Given the description of an element on the screen output the (x, y) to click on. 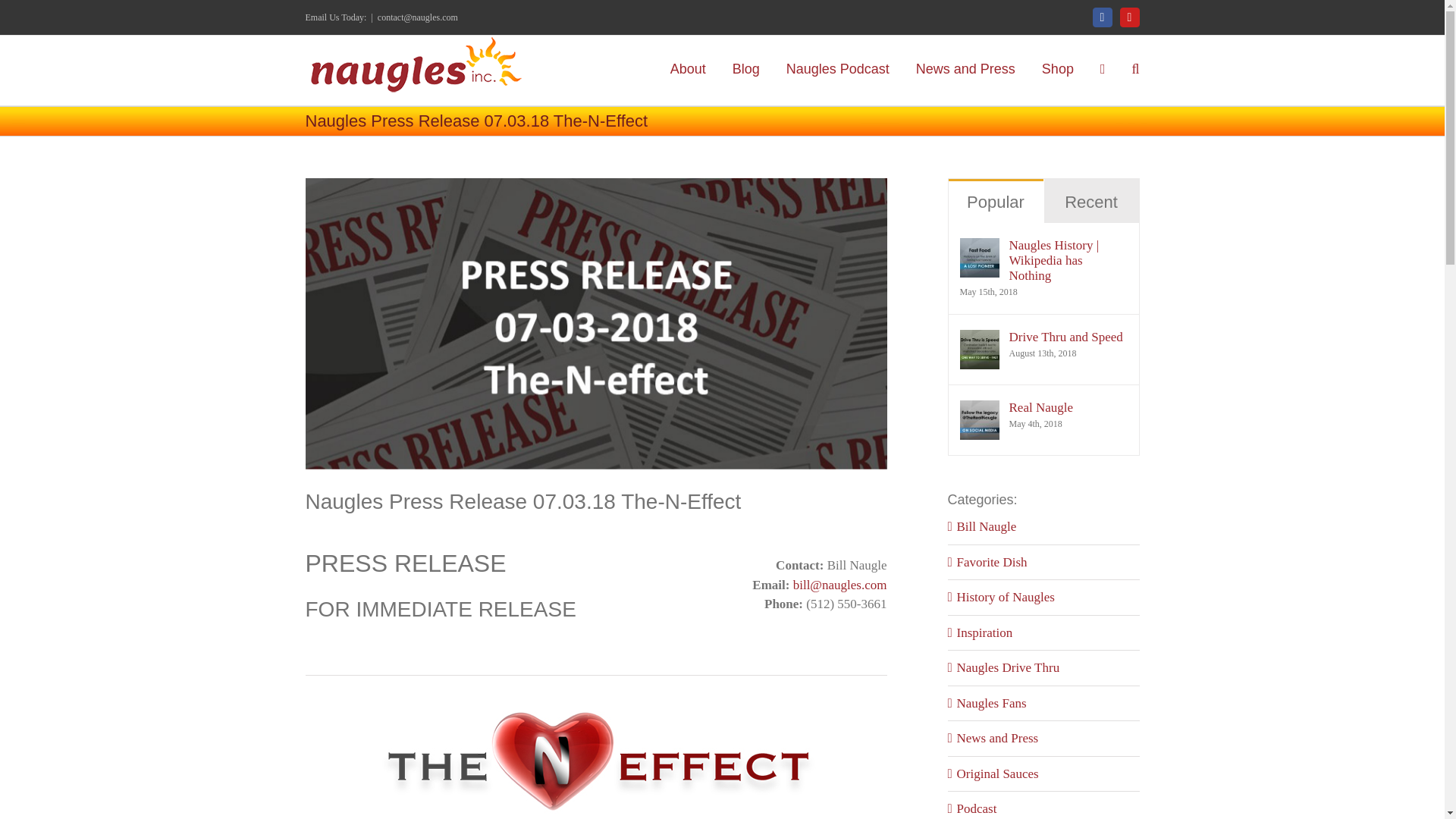
News and Press (964, 67)
Naugles Podcast (837, 67)
YouTube (1129, 17)
Facebook (1102, 17)
